Given the description of an element on the screen output the (x, y) to click on. 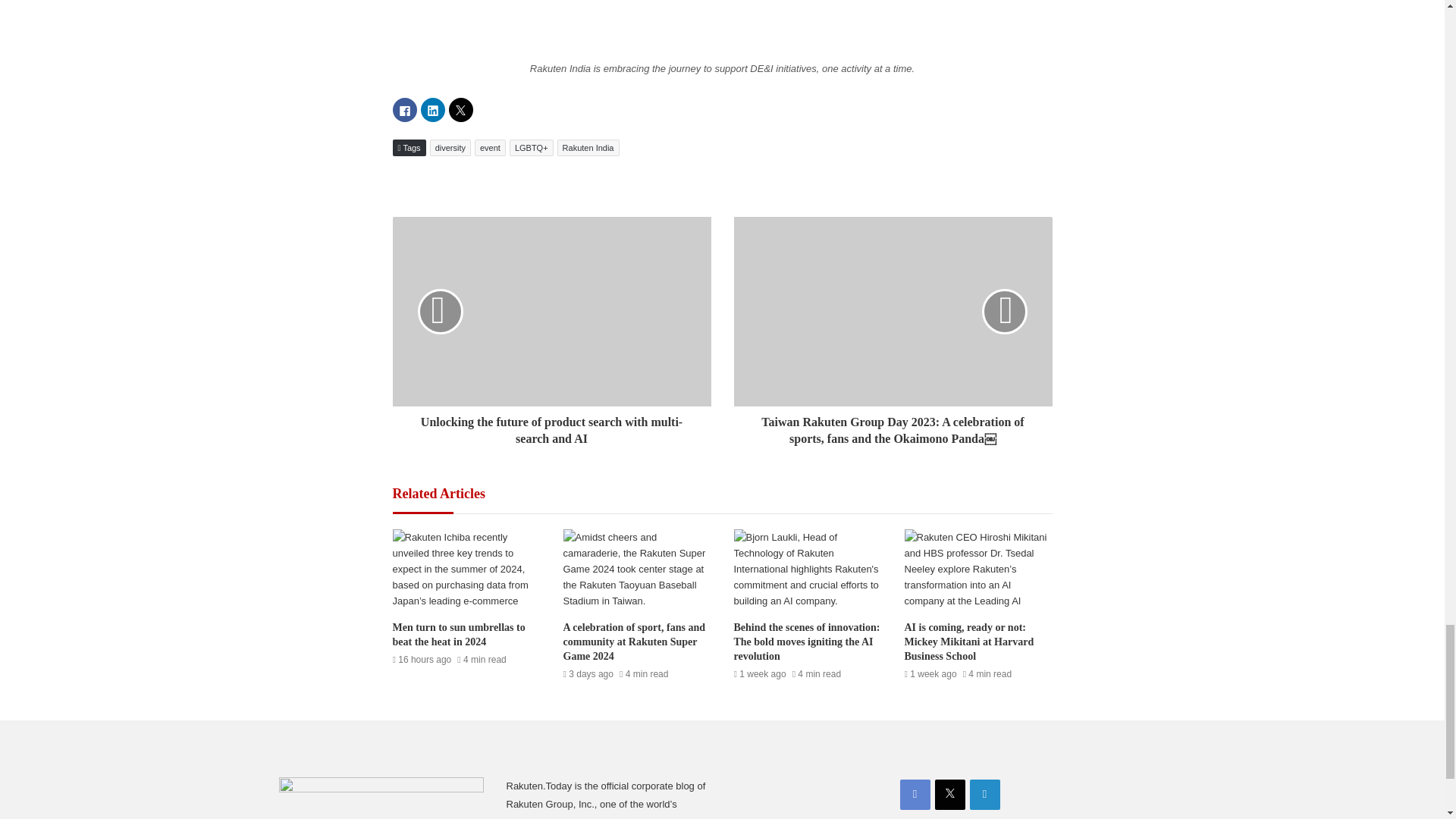
diversity (449, 147)
Men turn to sun umbrellas to beat the heat in 2024 (466, 570)
event (489, 147)
Click to share on Twitter (460, 109)
Click to share on LinkedIn (432, 109)
Rakuten India (588, 147)
Men turn to sun umbrellas to beat the heat in 2024 (459, 634)
Men turn to sun umbrellas to beat the heat in 2024 (459, 634)
Click to share on Facebook (404, 109)
